Given the description of an element on the screen output the (x, y) to click on. 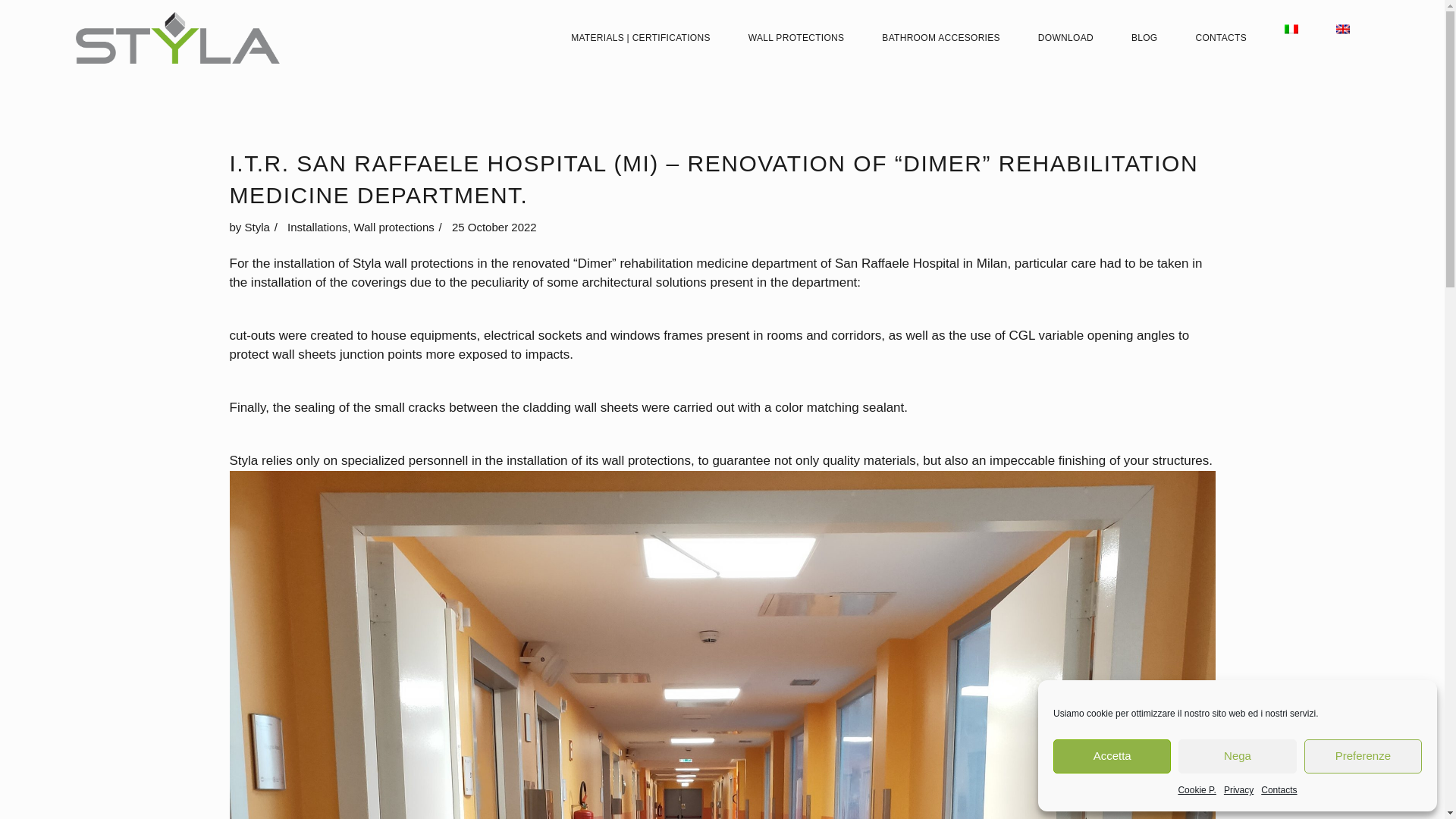
Privacy (1238, 790)
Preferenze (1363, 756)
Accetta (1111, 756)
BATHROOM ACCESORIES (941, 38)
CONTACTS (1220, 38)
Cookie P. (1196, 790)
DOWNLOAD (1065, 38)
Contacts (1278, 790)
WALL PROTECTIONS (796, 38)
Nega (1236, 756)
